Given the description of an element on the screen output the (x, y) to click on. 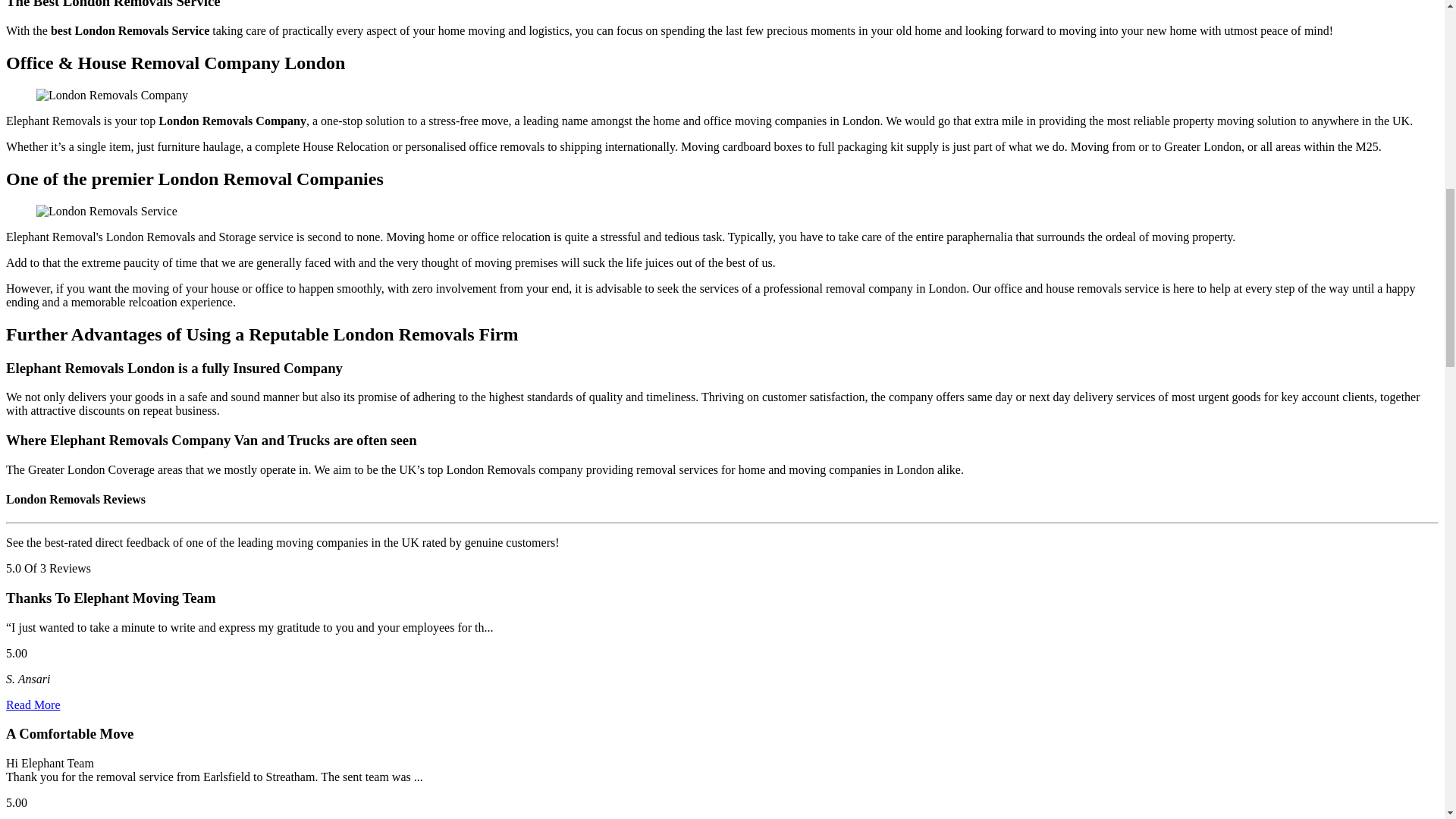
London Removals Company (111, 95)
Read More (33, 704)
London Removals Service (106, 211)
